Given the description of an element on the screen output the (x, y) to click on. 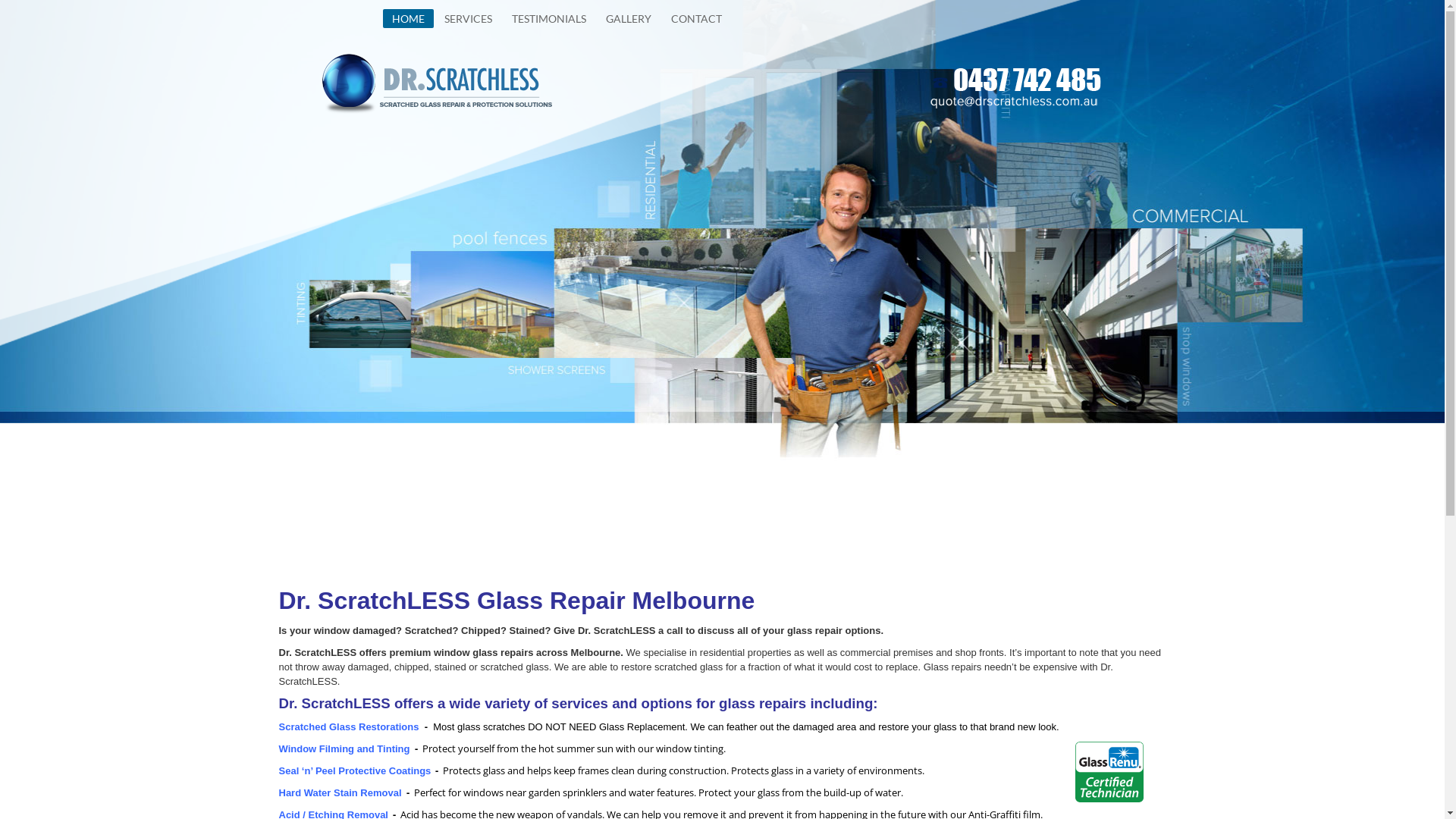
Click to return to Homepage of Your Website Element type: hover (437, 83)
Scratched Glass Restorations Element type: text (349, 726)
SERVICES Element type: text (468, 18)
CONTACT Element type: text (695, 18)
Window Filming and Tinting Element type: text (344, 748)
GALLERY Element type: text (627, 18)
HOME Element type: text (407, 18)
TESTIMONIALS Element type: text (548, 18)
Hard Water Stain Removal Element type: text (340, 792)
